Given the description of an element on the screen output the (x, y) to click on. 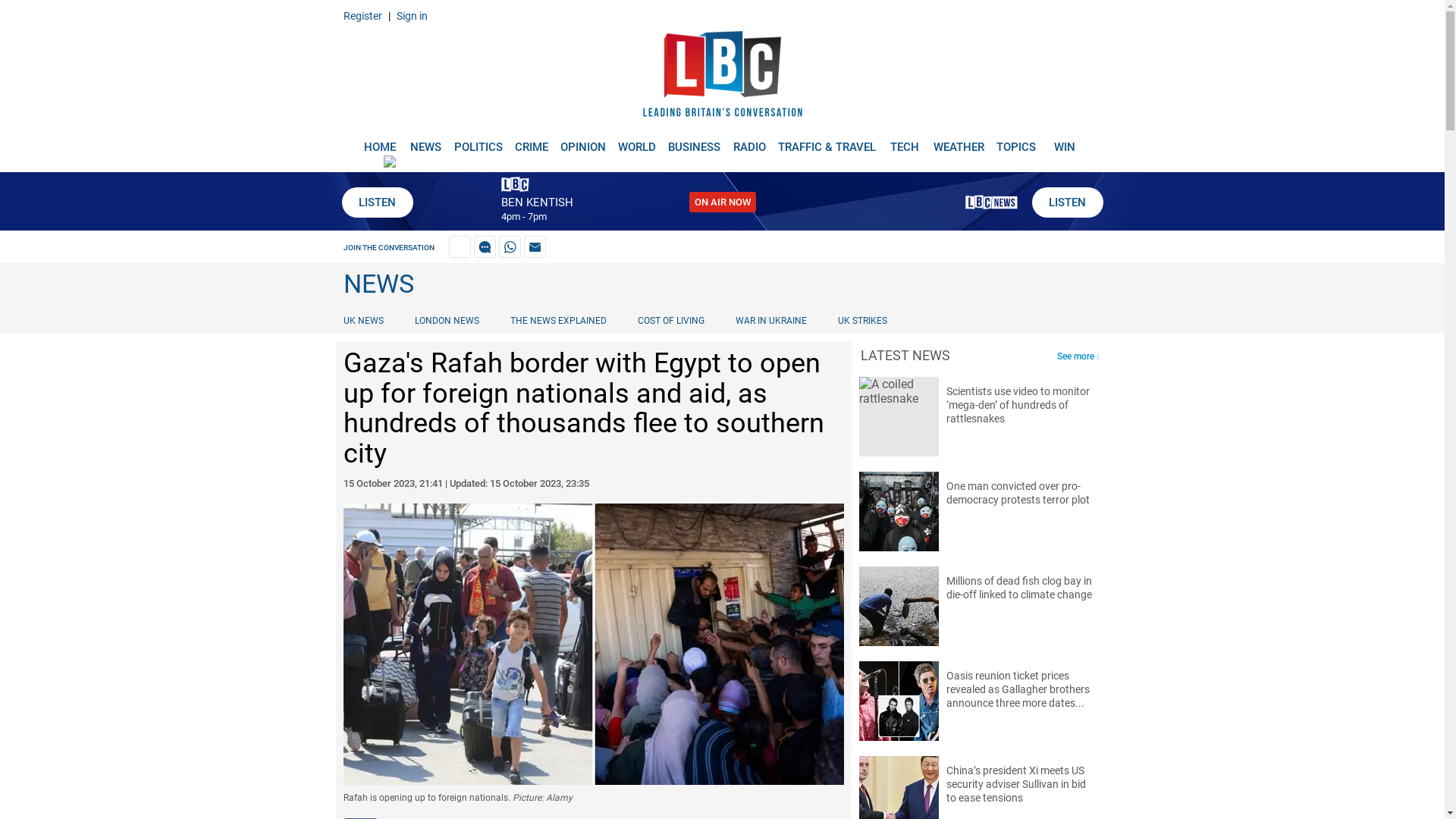
WORLD (636, 140)
TECH (904, 140)
LISTEN (376, 202)
Register (361, 15)
BEN KENTISH (536, 202)
WIN (1064, 140)
OPINION (582, 140)
BUSINESS (694, 140)
LBC (722, 77)
POLITICS (478, 140)
